Given the description of an element on the screen output the (x, y) to click on. 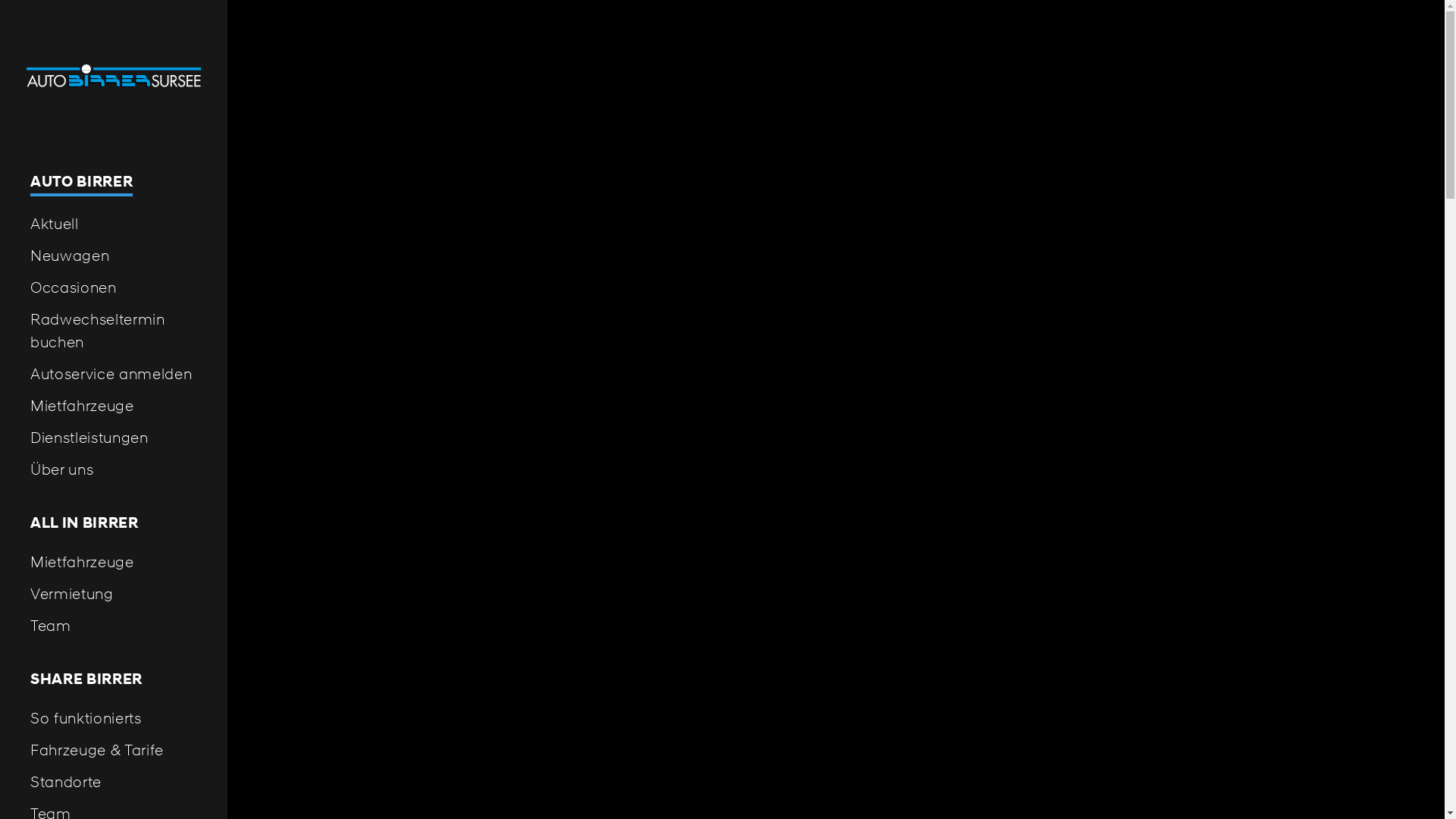
Fahrzeuge & Tarife Element type: text (113, 749)
Standorte Element type: text (113, 781)
Mietfahrzeuge Element type: text (113, 405)
Team Element type: text (113, 625)
Aktuell Element type: text (113, 223)
Mietfahrzeuge Element type: text (113, 561)
Radwechseltermin buchen Element type: text (113, 330)
So funktionierts Element type: text (113, 718)
Dienstleistungen Element type: text (113, 437)
ALL IN BIRRER Element type: text (113, 523)
Vermietung Element type: text (113, 593)
Neuwagen Element type: text (113, 255)
Autoservice anmelden Element type: text (113, 373)
SHARE BIRRER Element type: text (113, 679)
Occasionen Element type: text (113, 287)
AUTO BIRRER Element type: text (113, 183)
